Given the description of an element on the screen output the (x, y) to click on. 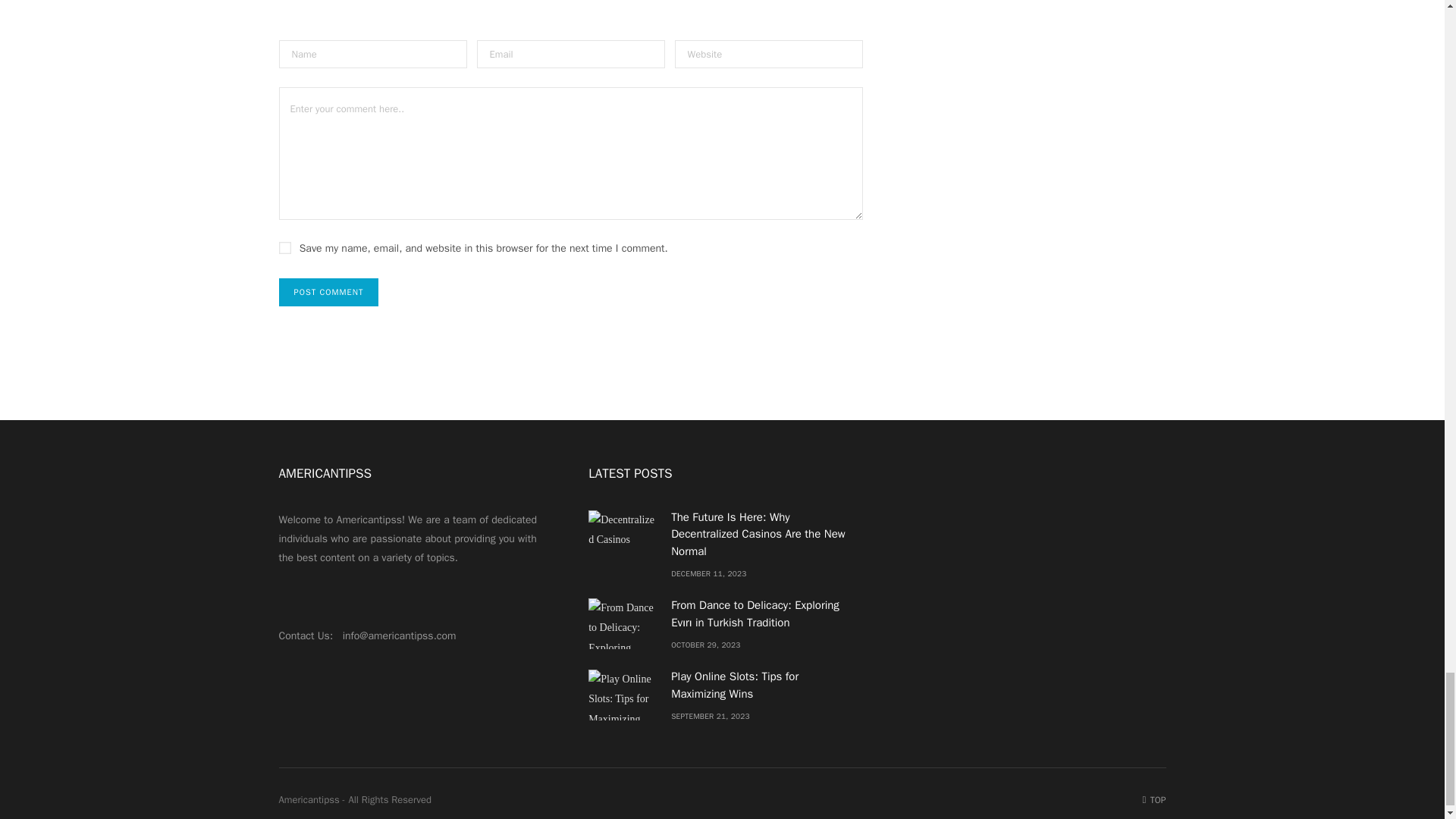
Post Comment (328, 292)
Post Comment (328, 292)
yes (285, 247)
